Given the description of an element on the screen output the (x, y) to click on. 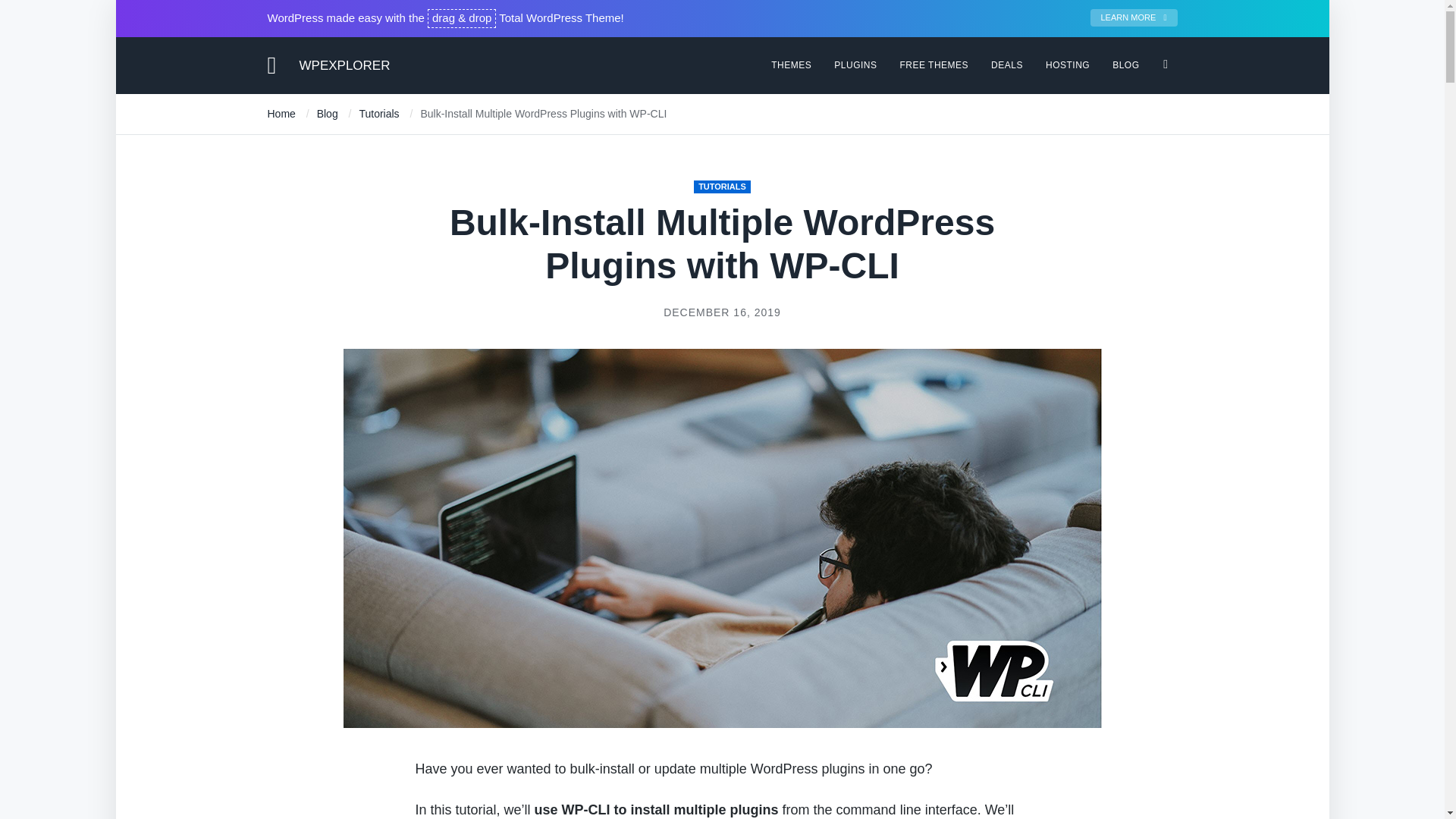
Blog (327, 113)
THEMES (790, 64)
HOSTING (1067, 64)
Home (280, 113)
SITE SEARCH (1165, 57)
BLOG (1125, 64)
PLUGINS (855, 64)
Tutorials (378, 113)
DEALS (1007, 64)
FREE THEMES (933, 64)
WPEXPLORER (344, 64)
